Given the description of an element on the screen output the (x, y) to click on. 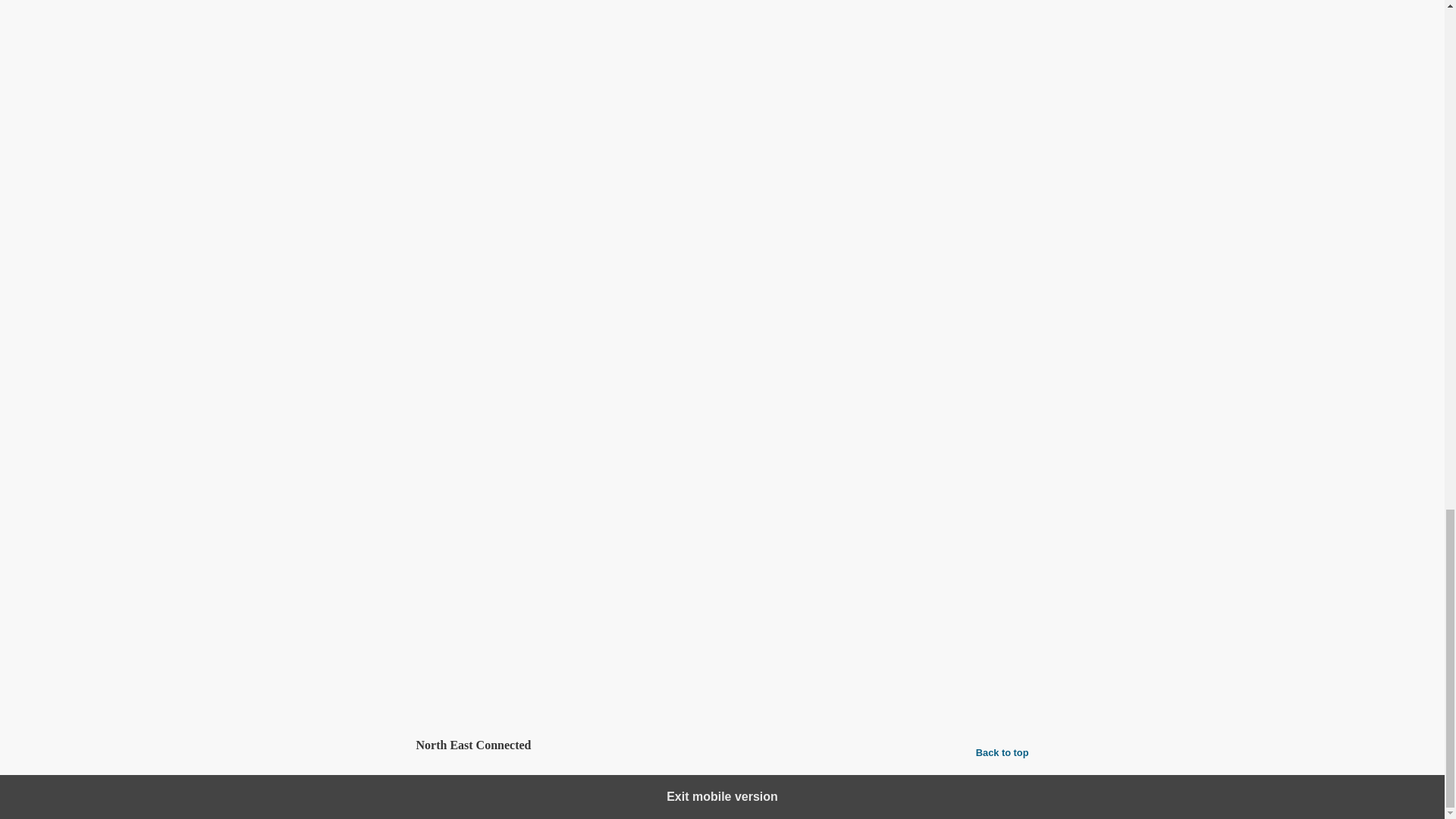
The King's Academy (618, 694)
Education (496, 662)
a-levels (462, 694)
Coulby Newham (525, 694)
Back to top (1002, 752)
